Given the description of an element on the screen output the (x, y) to click on. 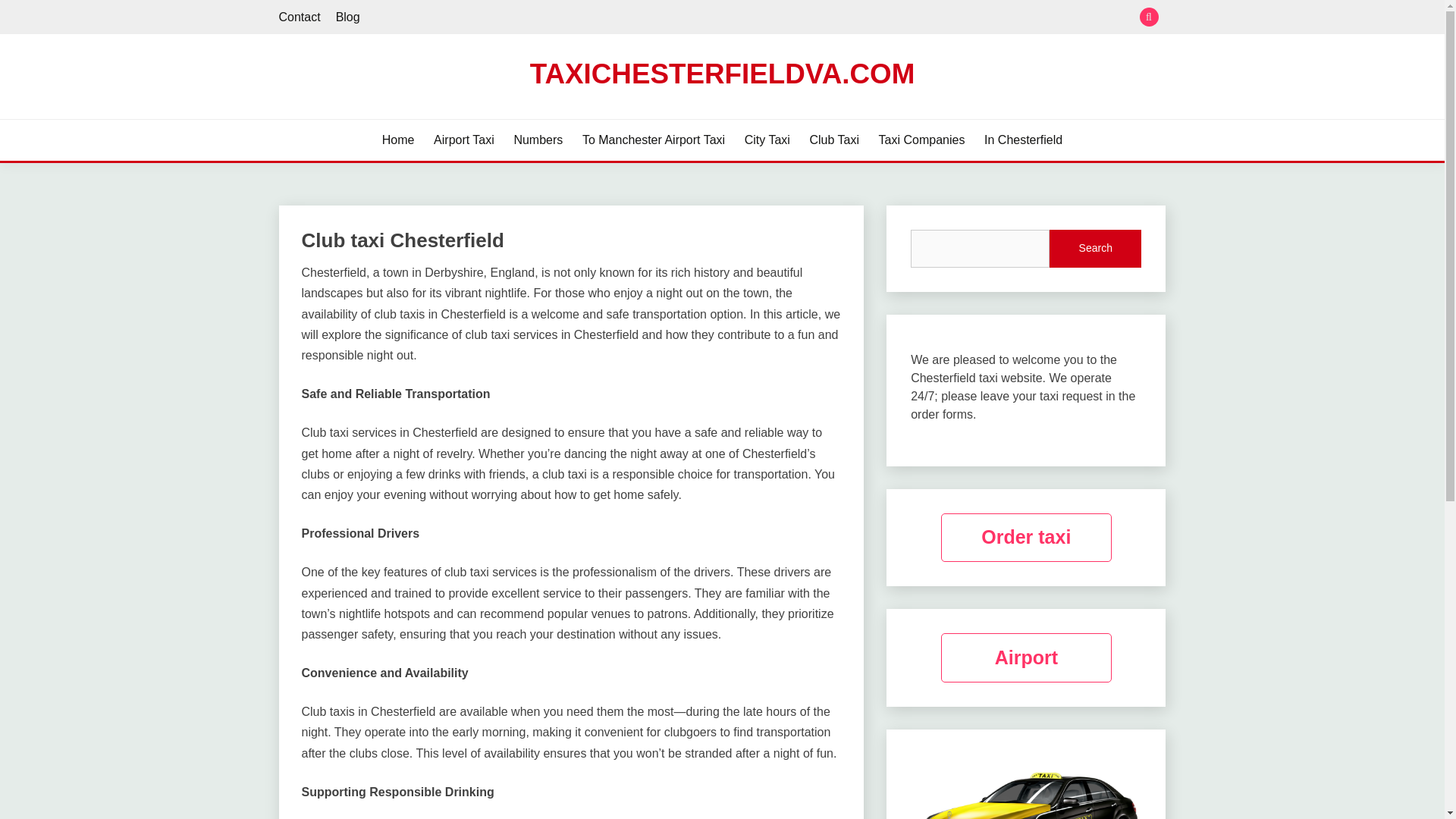
Home (397, 140)
In Chesterfield (1023, 140)
Numbers (537, 140)
To Manchester Airport Taxi (653, 140)
Taxi Companies (922, 140)
Airport (1026, 657)
Airport Taxi (464, 140)
City Taxi (767, 140)
Search (1095, 248)
Contact (299, 16)
Order taxi (1026, 537)
Search (832, 18)
TAXICHESTERFIELDVA.COM (722, 73)
Blog (347, 16)
Club Taxi (834, 140)
